Given the description of an element on the screen output the (x, y) to click on. 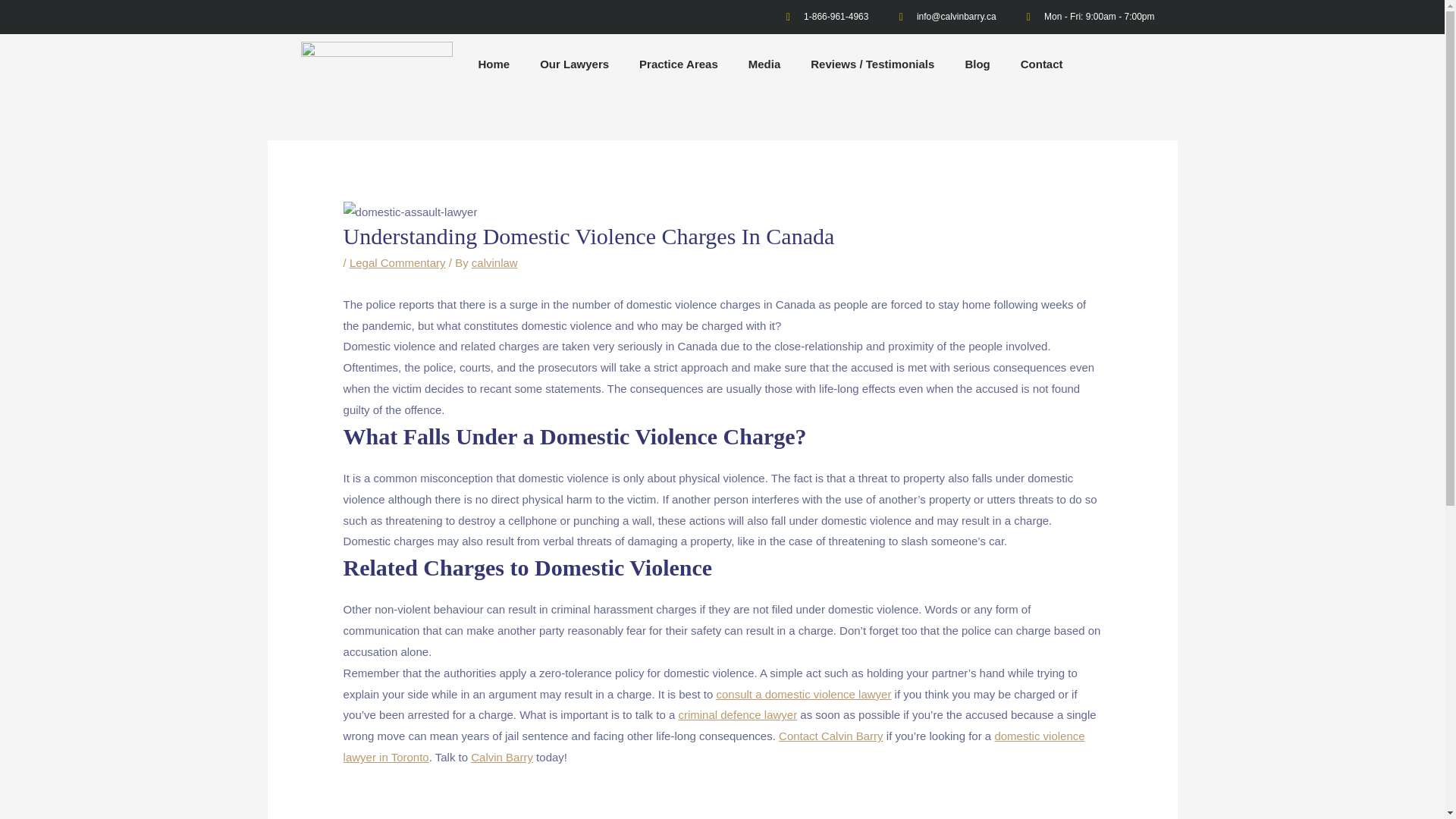
Home (493, 64)
Our Lawyers (574, 64)
Practice Areas (678, 64)
Blog (976, 64)
Contact (1042, 64)
View all posts by calvinlaw (494, 262)
Media (764, 64)
